Given the description of an element on the screen output the (x, y) to click on. 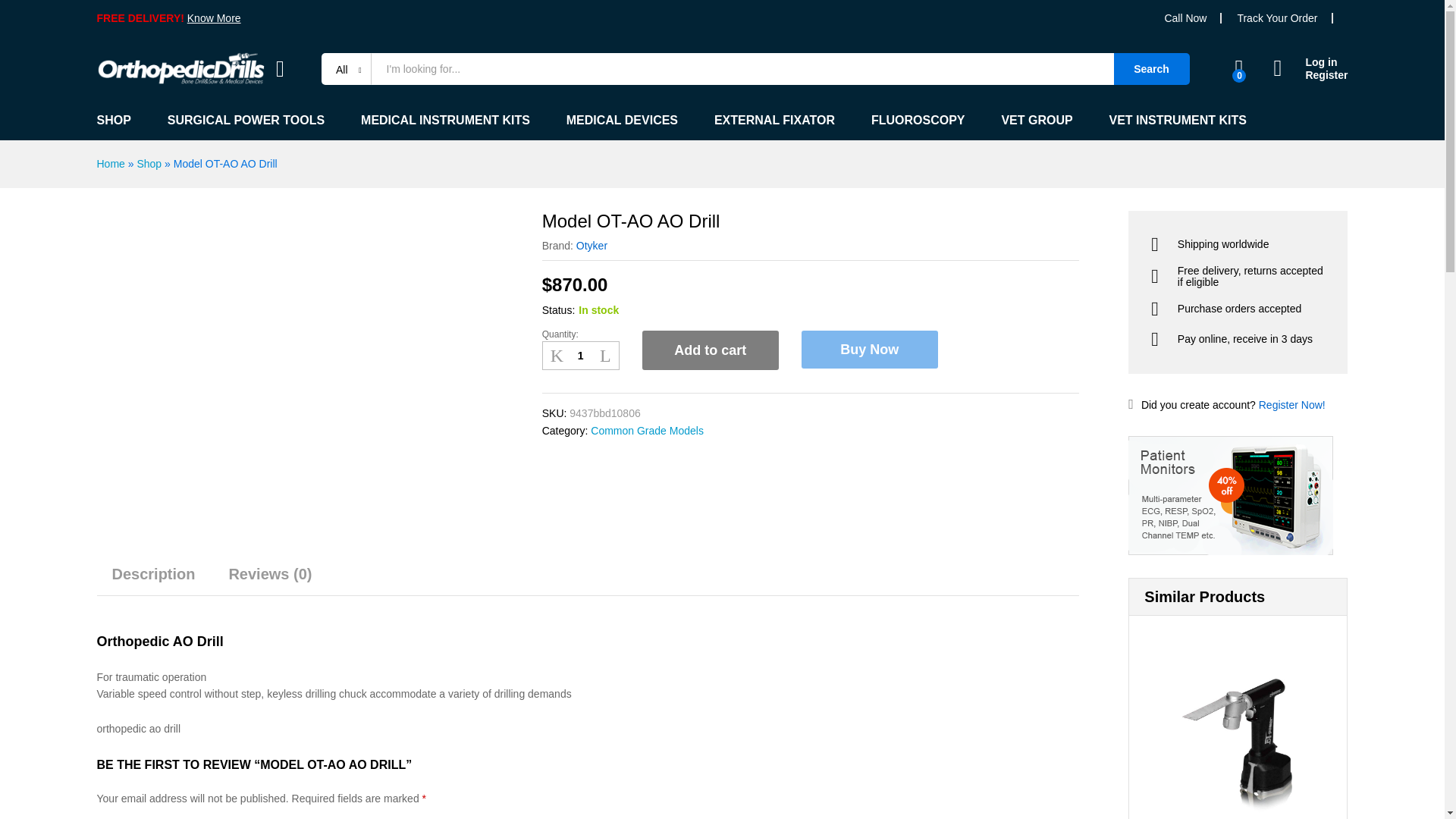
Track Your Order (1276, 18)
1 (580, 355)
Search (1151, 69)
Call Now (1185, 18)
Know More (214, 18)
Qty (580, 355)
Log in (1310, 62)
